Given the description of an element on the screen output the (x, y) to click on. 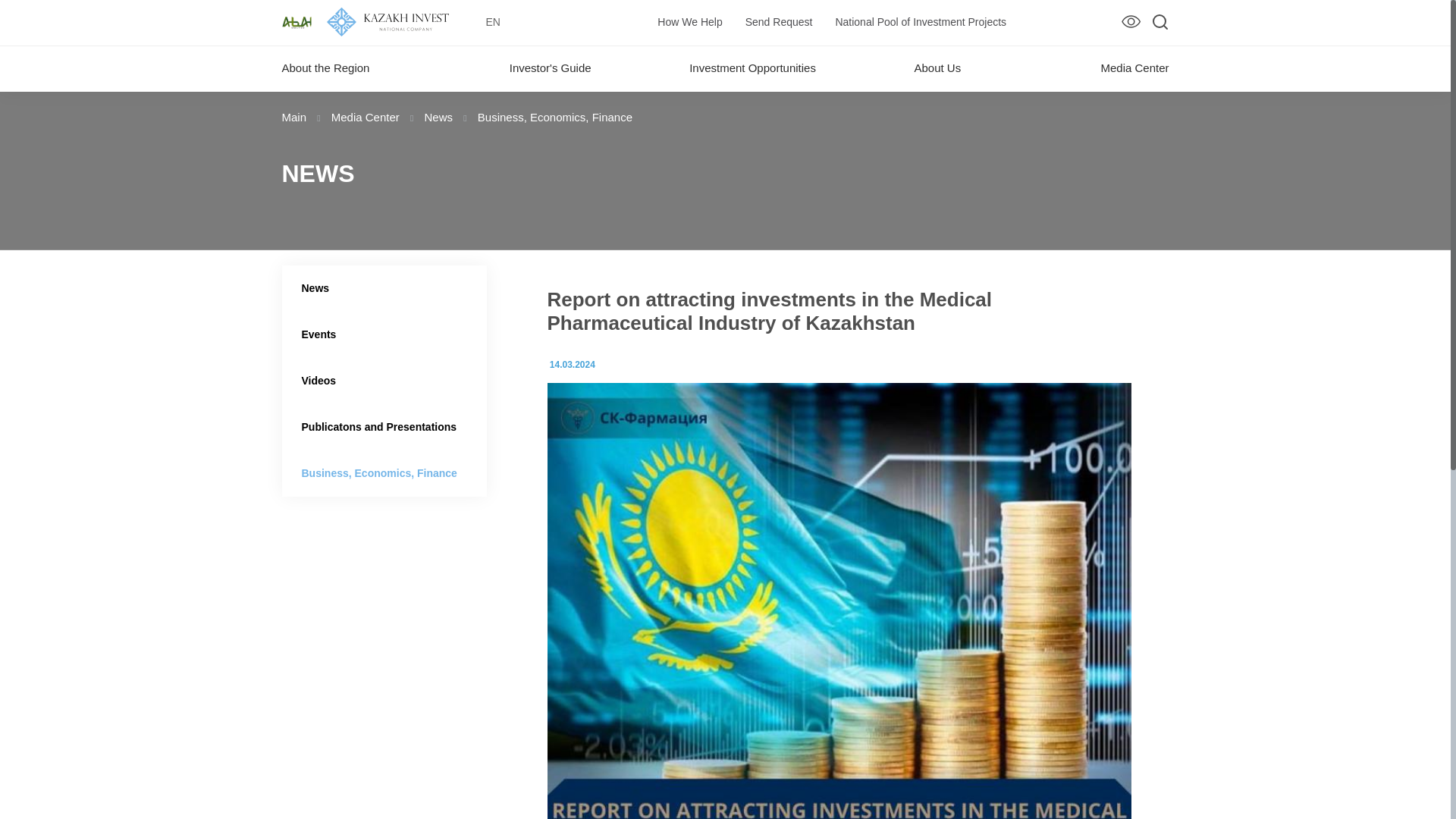
EN (492, 22)
How We Help (690, 21)
National Pool of Investment Projects (920, 21)
Send Request (778, 21)
Main (296, 116)
News (441, 116)
Media Center (367, 116)
